Given the description of an element on the screen output the (x, y) to click on. 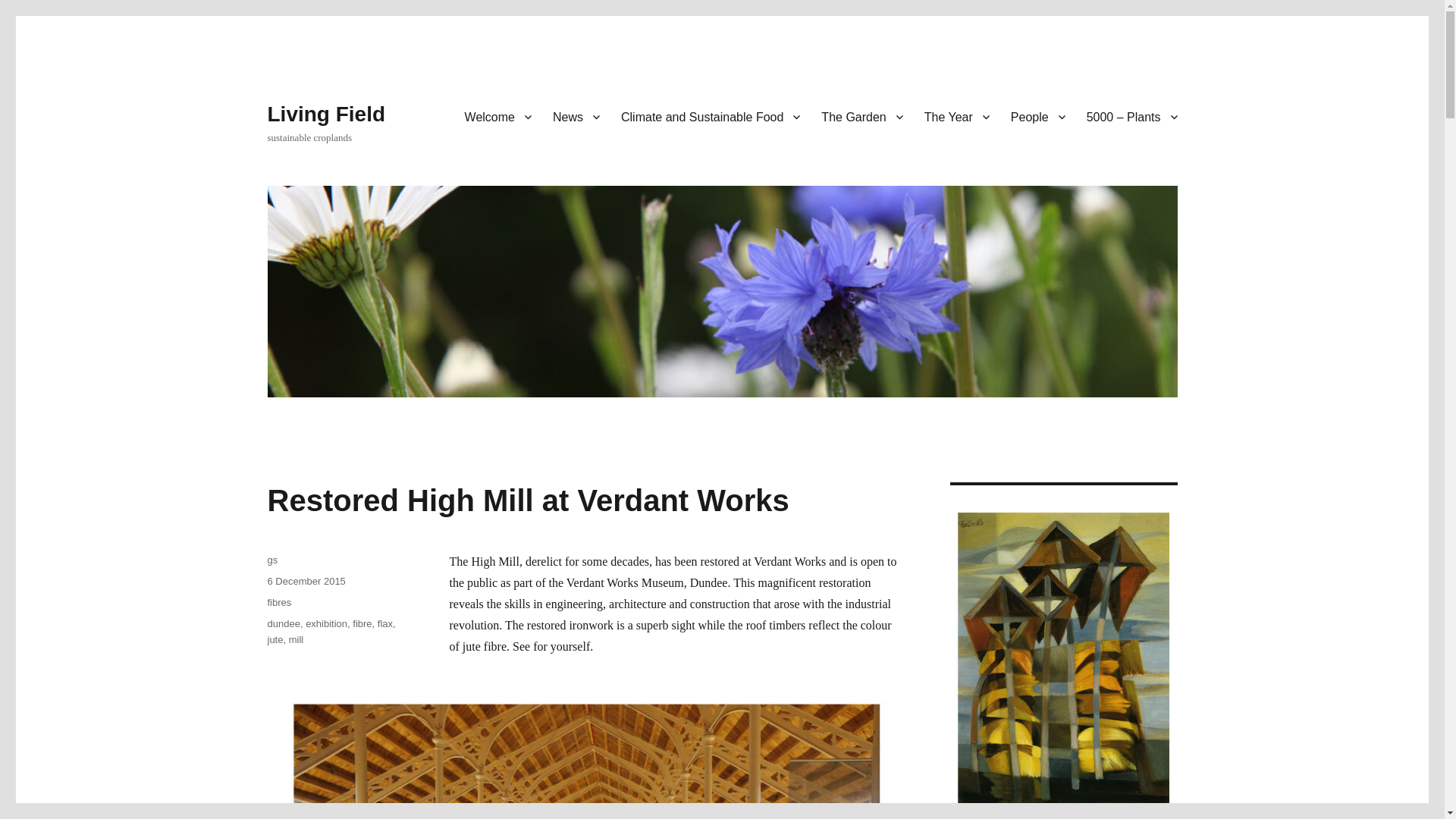
News (575, 116)
Living Field (325, 114)
Welcome (497, 116)
The Garden (861, 116)
The Year (957, 116)
Climate and Sustainable Food (710, 116)
